Given the description of an element on the screen output the (x, y) to click on. 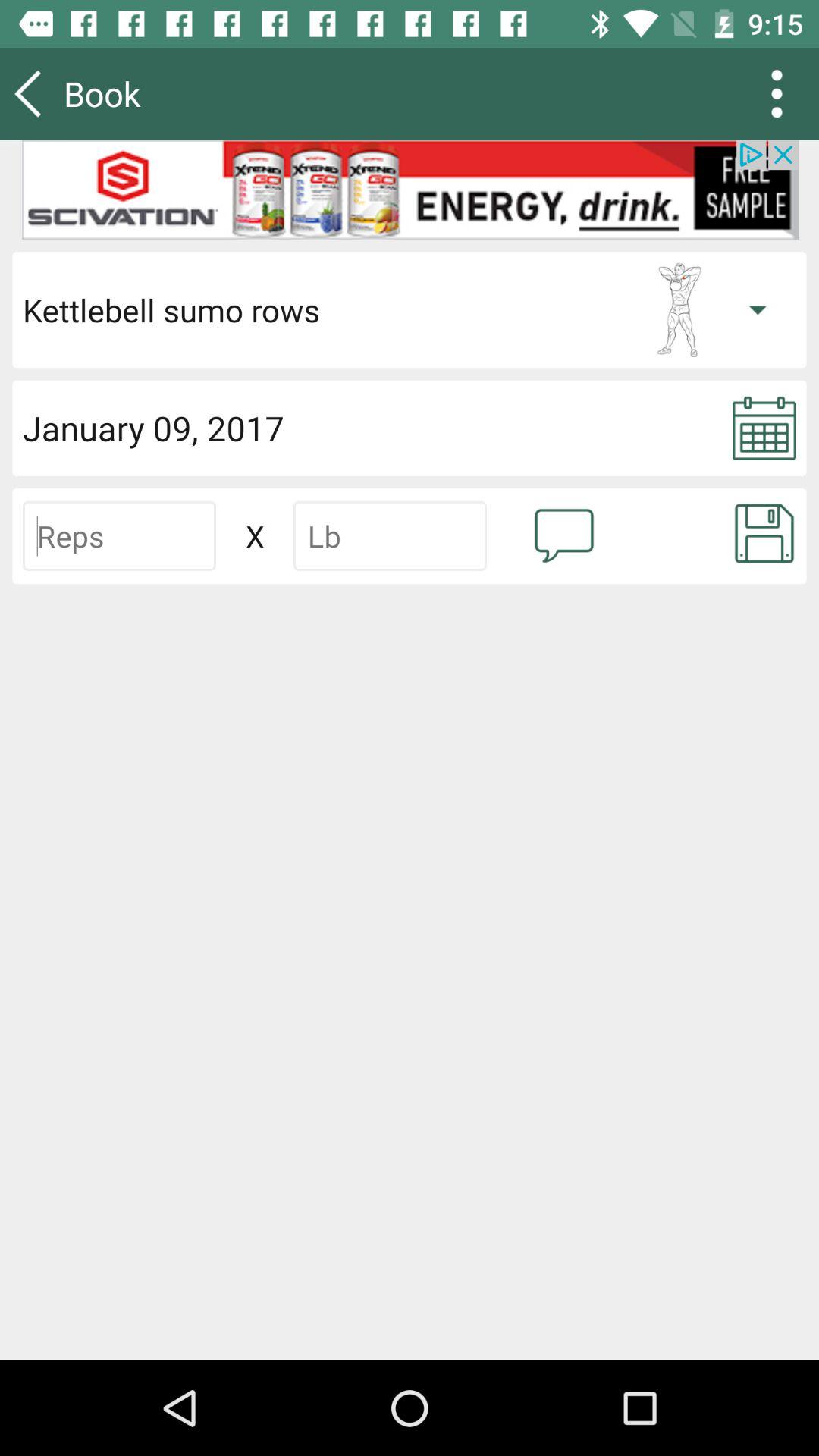
field to put repetition number (119, 536)
